Given the description of an element on the screen output the (x, y) to click on. 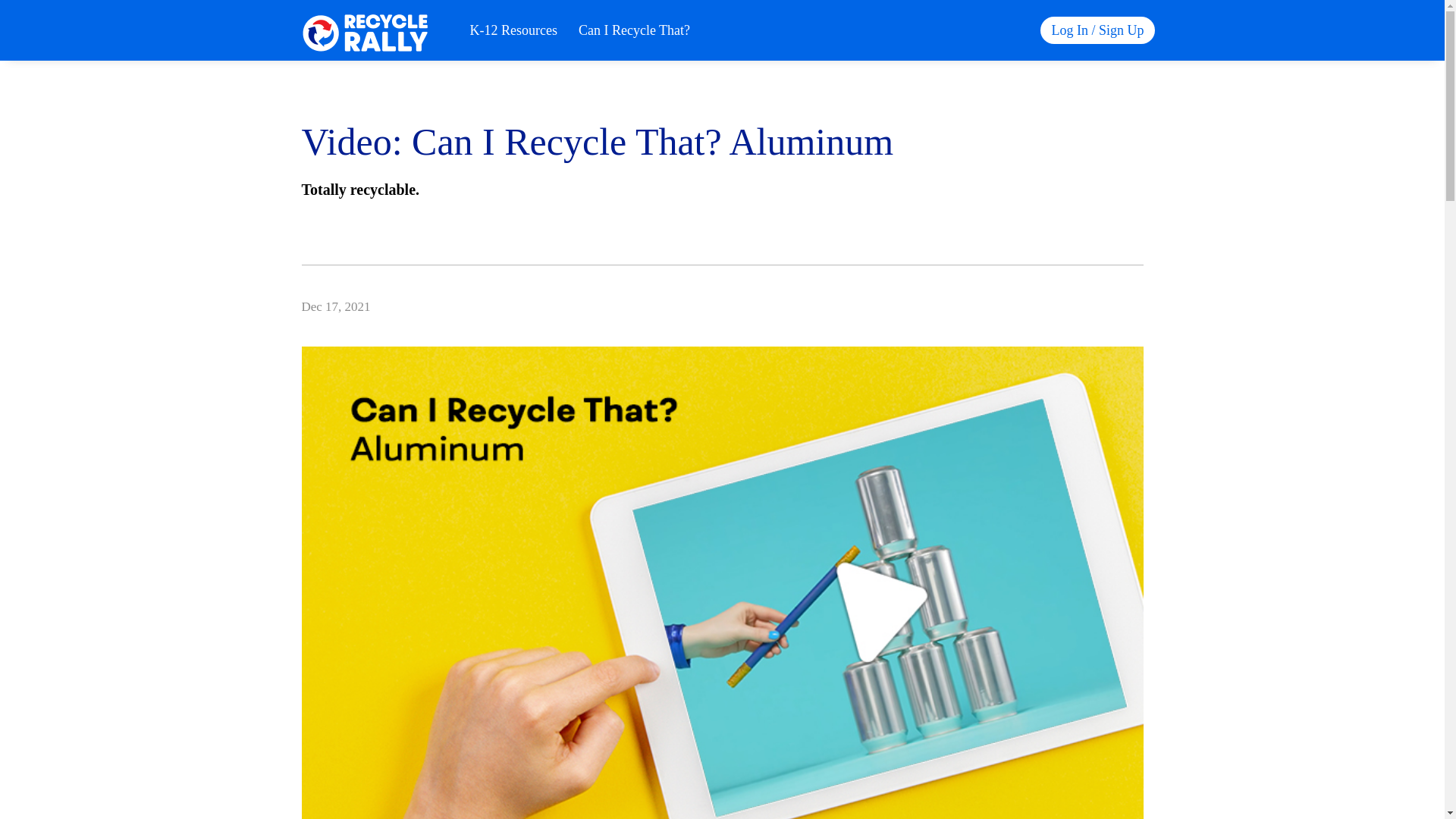
Can I Recycle That? (633, 30)
K-12 Resources (513, 30)
K-12 Resources (513, 30)
Can I Recycle That? (633, 30)
